Given the description of an element on the screen output the (x, y) to click on. 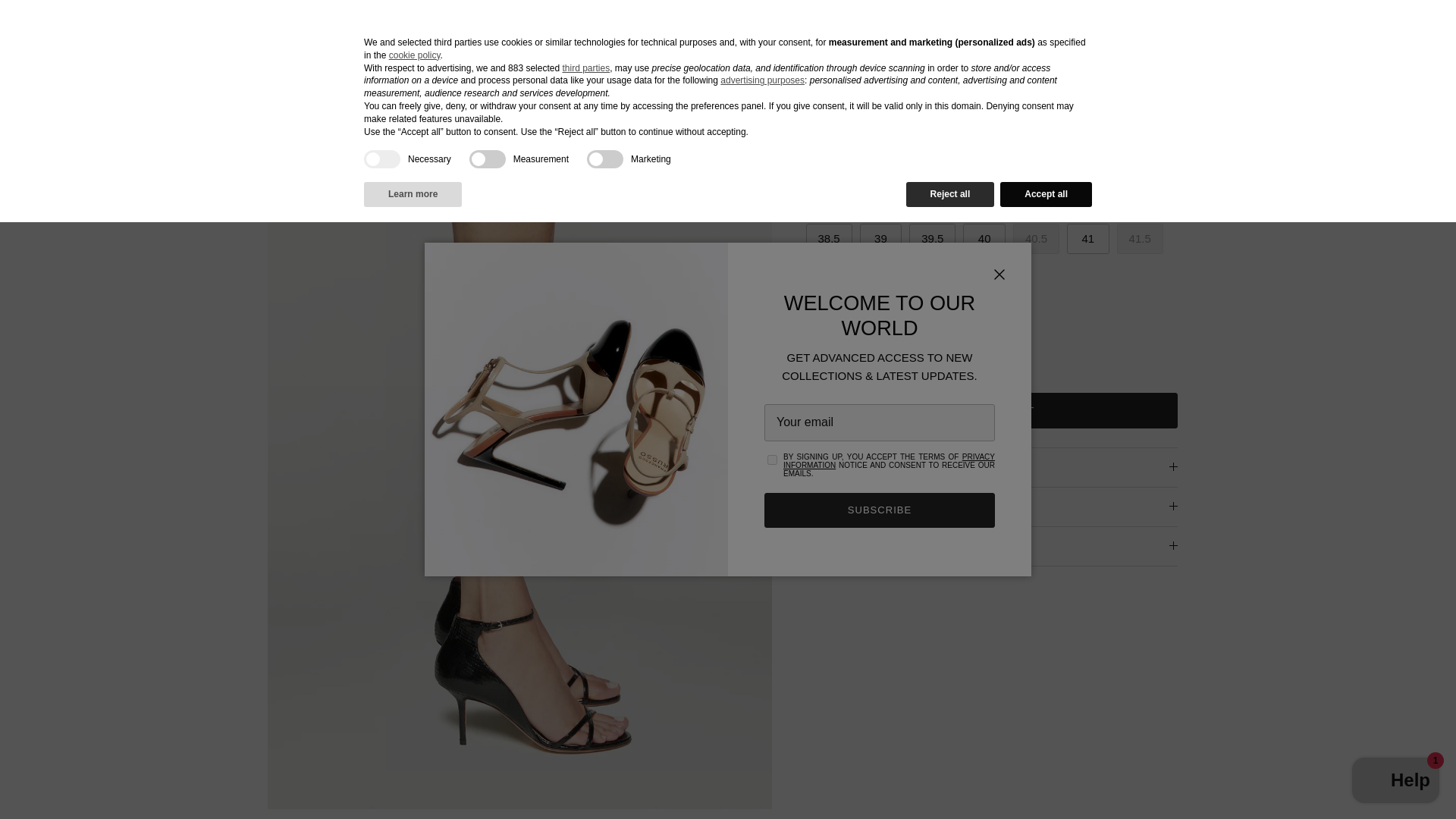
HOME (66, 31)
Sold out (1036, 238)
false (604, 158)
Cart (1389, 31)
Sold out (826, 200)
SALE (204, 31)
false (486, 158)
SHOP (136, 31)
Privacy Policy (888, 460)
Account (1319, 31)
true (382, 158)
Sold out (982, 200)
ANTHOLOGY (296, 31)
Yes (772, 460)
Francesco Russo (721, 31)
